Given the description of an element on the screen output the (x, y) to click on. 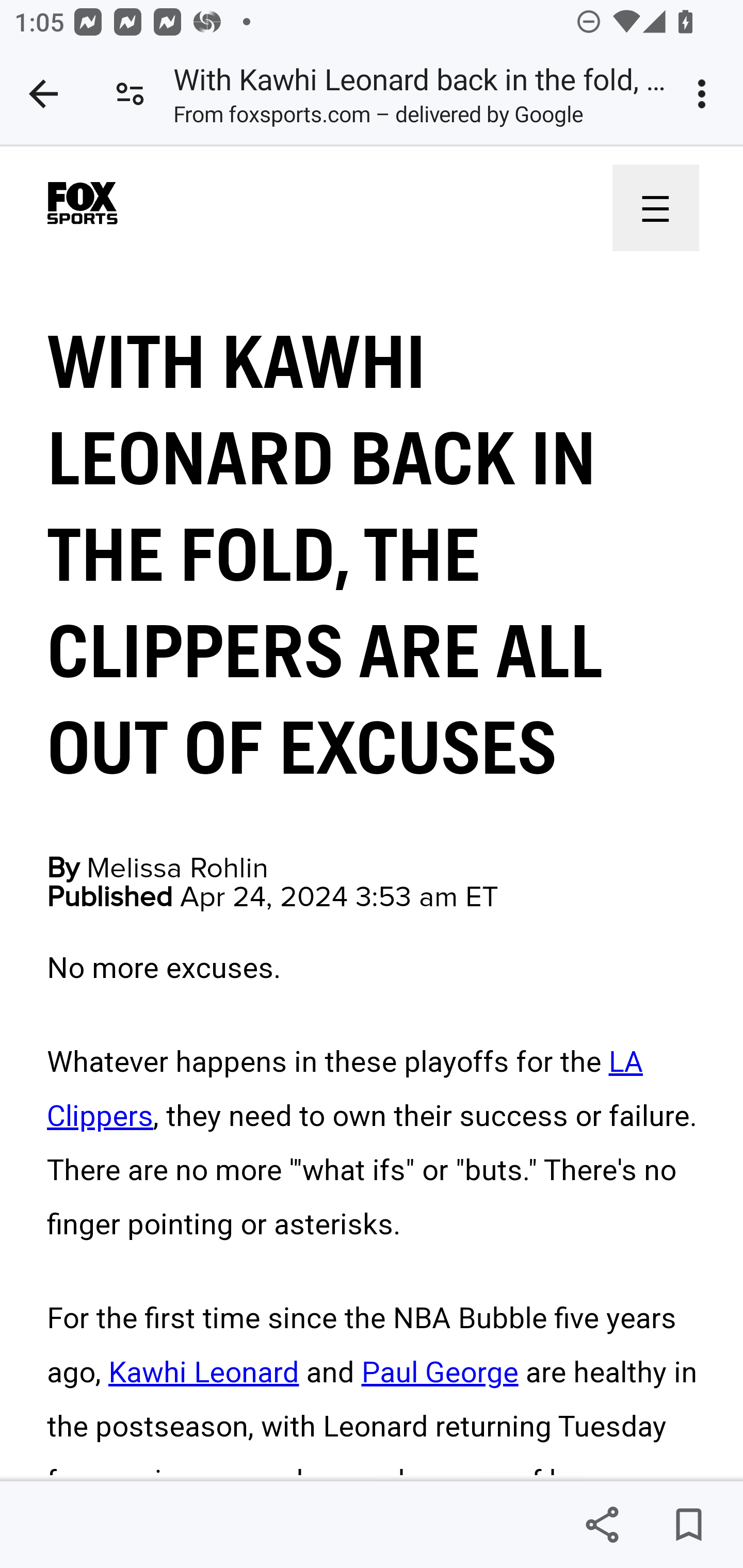
Close tab (43, 93)
Customize and control Google Chrome (705, 93)
Connection is secure (129, 93)
From foxsports.com – delivered by Google (378, 117)
☰ (655, 207)
Fox Sports logo (82, 205)
LA Clippers (345, 1087)
Kawhi Leonard (203, 1372)
Paul George (440, 1372)
Share (601, 1524)
Save for later (688, 1524)
